Given the description of an element on the screen output the (x, y) to click on. 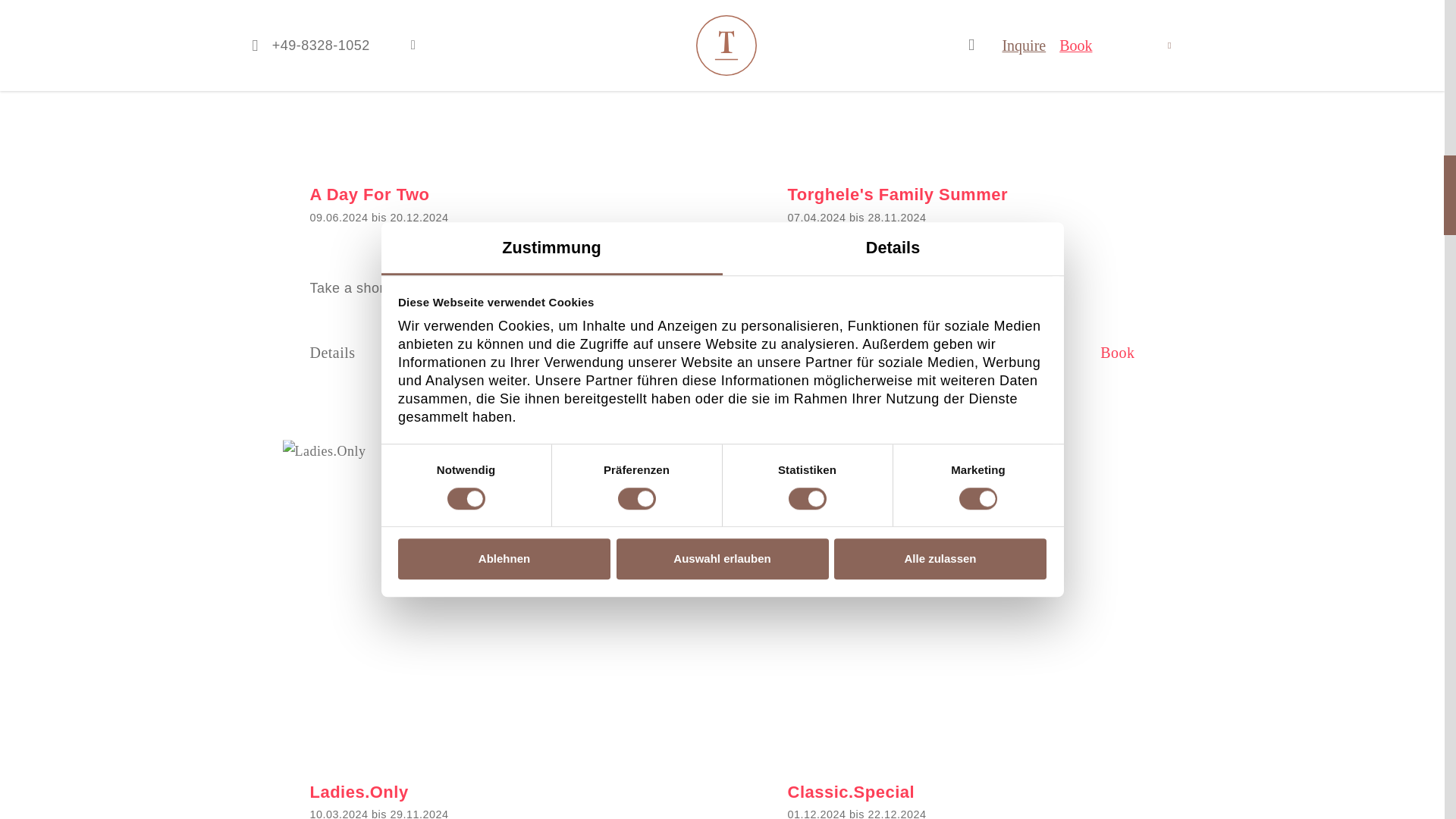
Ladies.Only (483, 590)
A Day For Two (483, 72)
Torghele's Family Summer (960, 72)
